Given the description of an element on the screen output the (x, y) to click on. 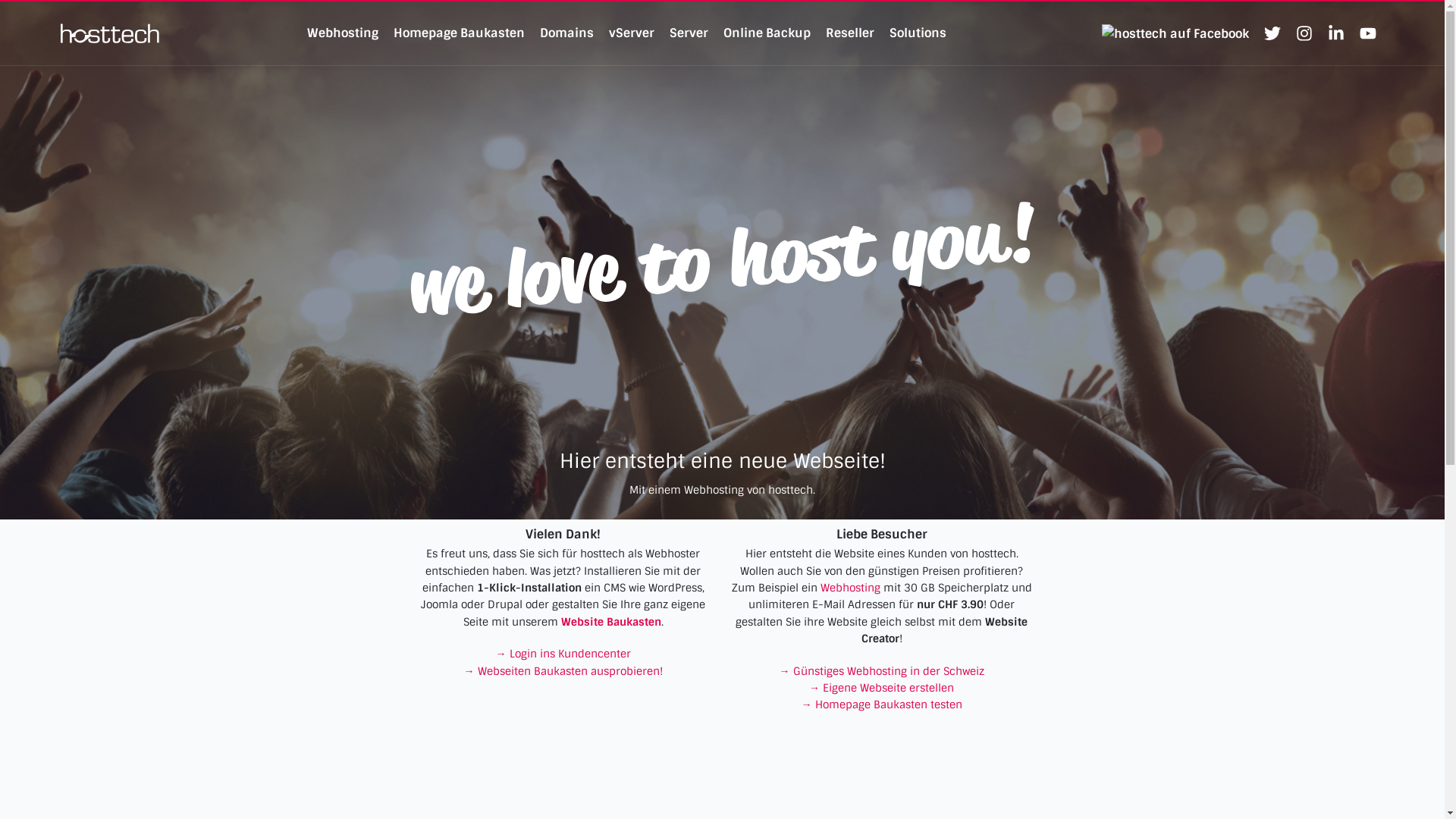
Webhosting Element type: text (342, 32)
Webhosting Element type: text (850, 587)
Homepage Baukasten Element type: text (458, 32)
Online Backup Element type: text (766, 32)
Website Baukasten Element type: text (611, 621)
Solutions Element type: text (917, 32)
Reseller Element type: text (849, 32)
Server Element type: text (688, 32)
Domains Element type: text (566, 32)
vServer Element type: text (631, 32)
